Given the description of an element on the screen output the (x, y) to click on. 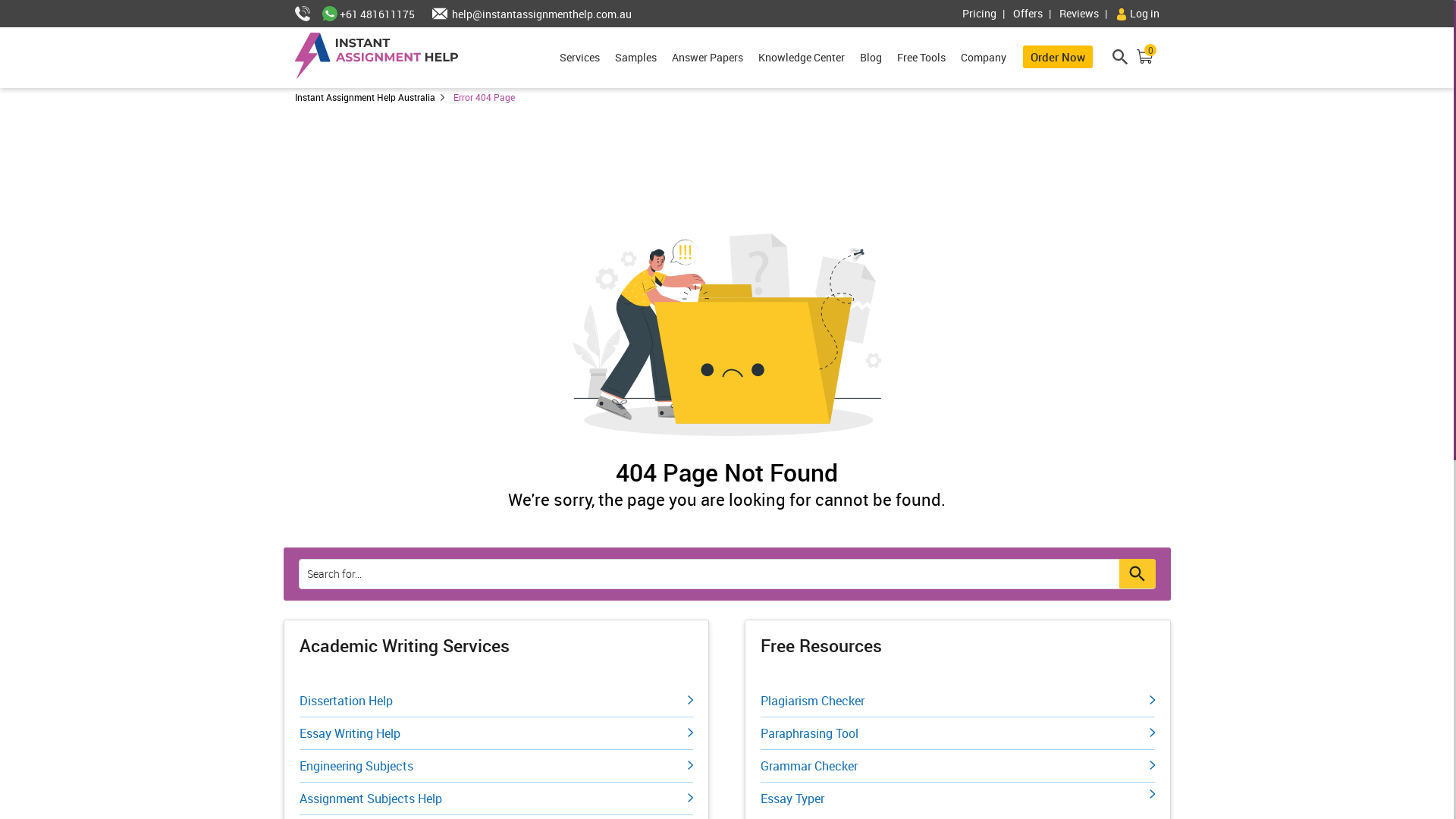
Dissertation Help Element type: text (495, 700)
Reviews Element type: text (1085, 13)
Order Now Element type: text (1057, 56)
Pricing Element type: text (985, 13)
Essay Typer Element type: text (957, 794)
Offers Element type: text (1035, 13)
Grammar Checker Element type: text (957, 765)
Samples Element type: text (635, 56)
Log in Element type: text (1136, 13)
Plagiarism Checker Element type: text (957, 700)
help@instantassignmenthelp.com.au Element type: text (524, 13)
Engineering Subjects Element type: text (495, 765)
Knowledge Center Element type: text (801, 56)
+61 481611175 Element type: text (367, 13)
Assignment Subjects Help Element type: text (495, 798)
Services Element type: text (579, 57)
Blog Element type: text (870, 56)
Instant Assignment Help Australia Element type: text (371, 97)
0 Element type: text (1144, 59)
Essay Writing Help Element type: text (495, 733)
Answer Papers Element type: text (707, 56)
Paraphrasing Tool Element type: text (957, 733)
